Given the description of an element on the screen output the (x, y) to click on. 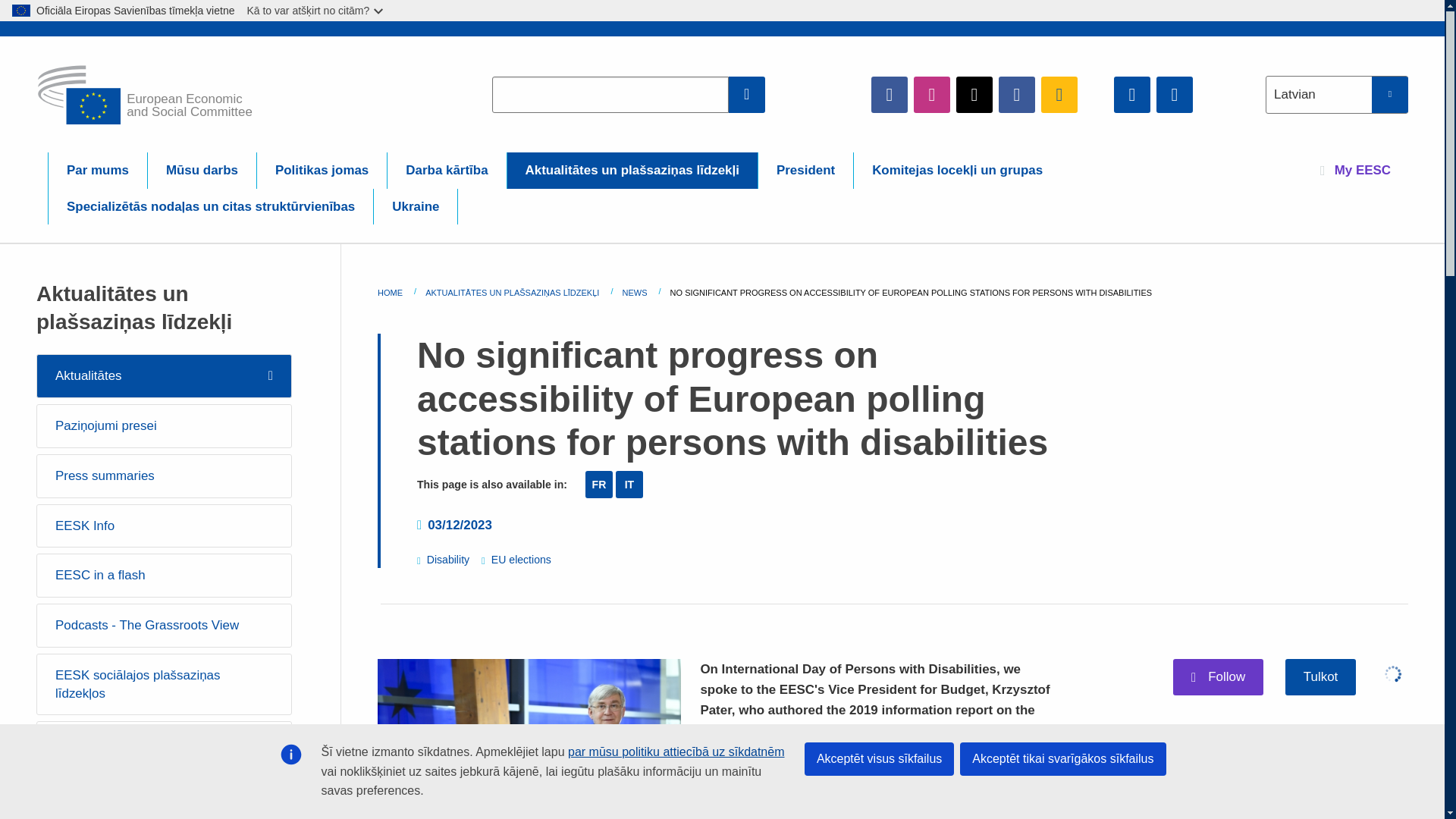
Search EESC Website (747, 94)
My EESC (1355, 170)
